Given the description of an element on the screen output the (x, y) to click on. 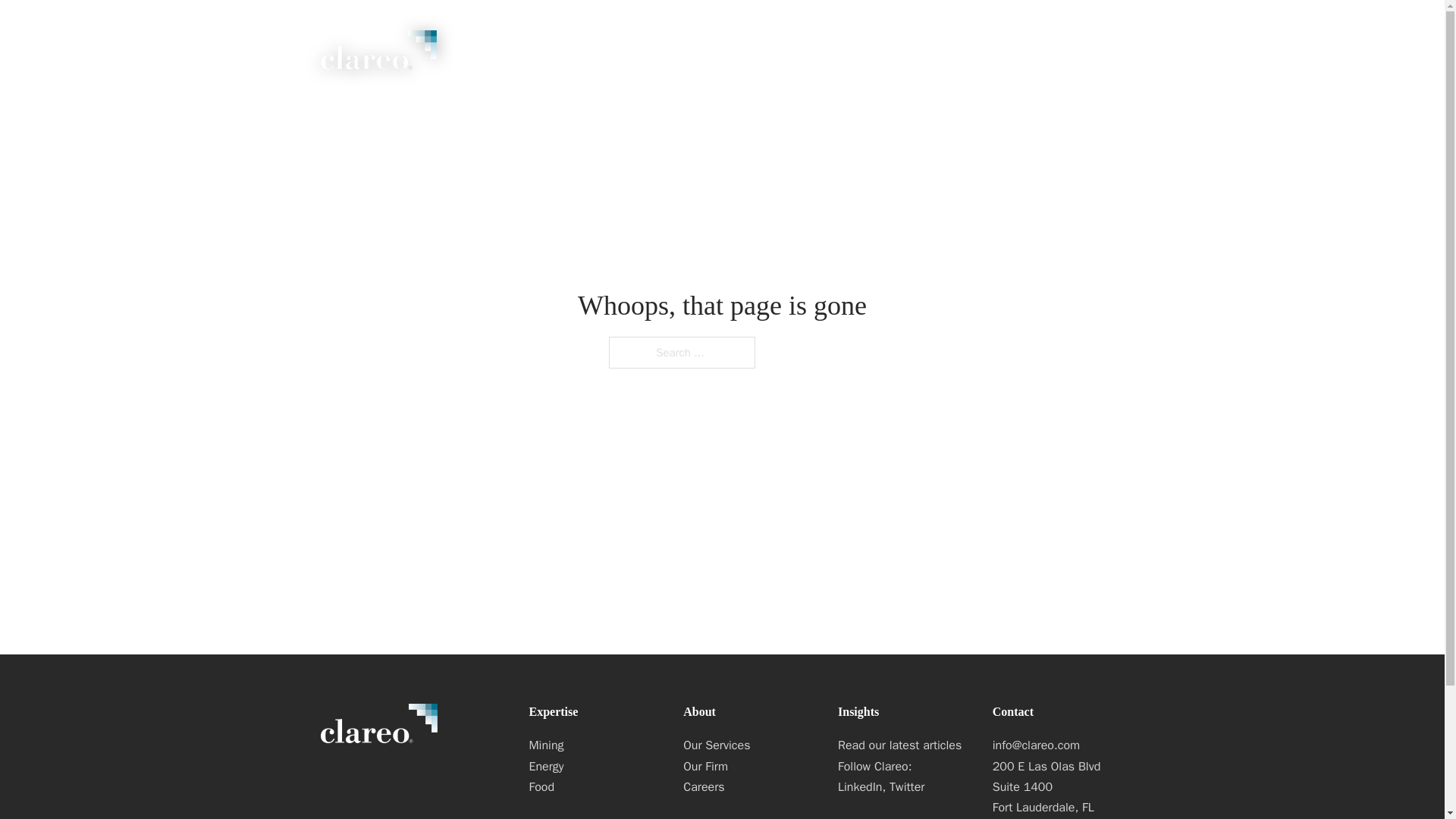
Food (818, 55)
Read our latest articles (903, 745)
Twitter (906, 786)
Our Services (748, 745)
Energy (727, 55)
Mining (595, 745)
Energy (595, 766)
Food (595, 787)
Our Firm (748, 766)
Mining (631, 55)
